Given the description of an element on the screen output the (x, y) to click on. 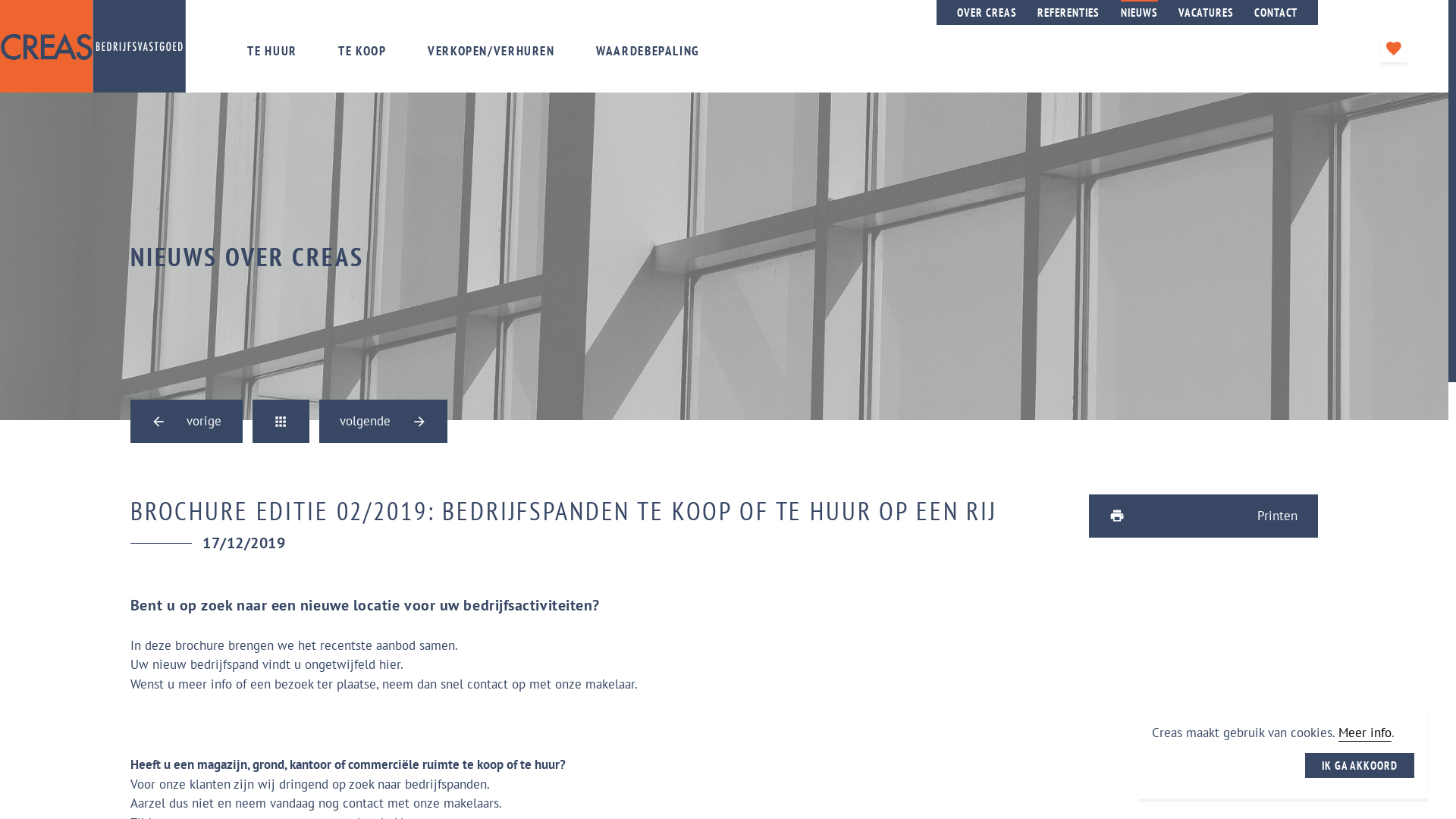
TE KOOP Element type: text (361, 51)
CONTACT Element type: text (1275, 12)
NIEUWS Element type: text (1139, 12)
WAARDEBEPALING Element type: text (647, 51)
IK GA AKKOORD Element type: text (1359, 765)
REFERENTIES Element type: text (1068, 12)
VACATURES Element type: text (1205, 12)
OVER CREAS Element type: text (986, 12)
VERKOPEN/VERHUREN Element type: text (491, 51)
vorige Element type: text (186, 420)
TE HUUR Element type: text (271, 51)
Printen Element type: text (1202, 515)
Overzicht Element type: hover (280, 420)
volgende Element type: text (383, 420)
Meer info Element type: text (1364, 732)
